Given the description of an element on the screen output the (x, y) to click on. 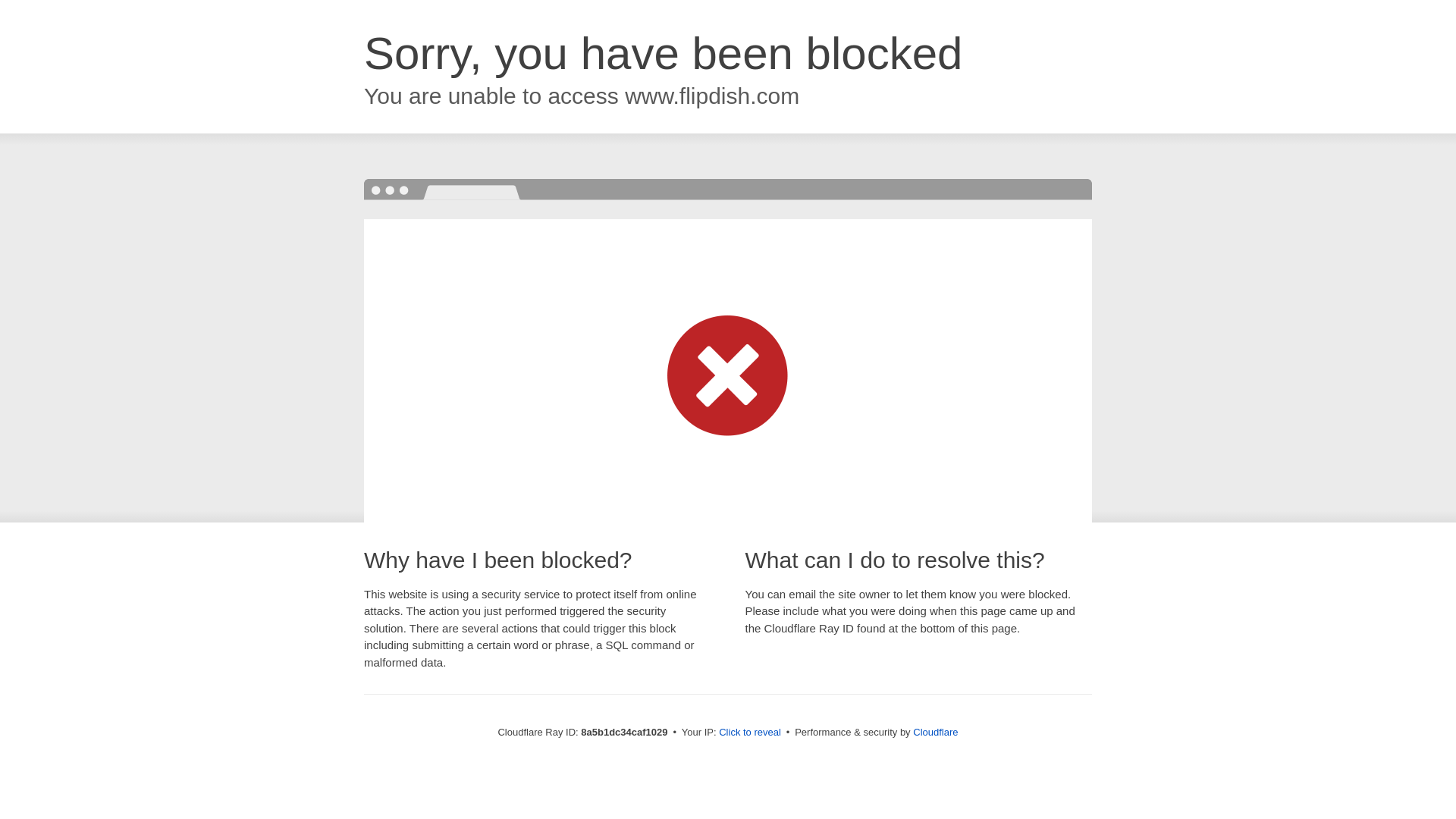
Cloudflare (935, 731)
Click to reveal (749, 732)
